Given the description of an element on the screen output the (x, y) to click on. 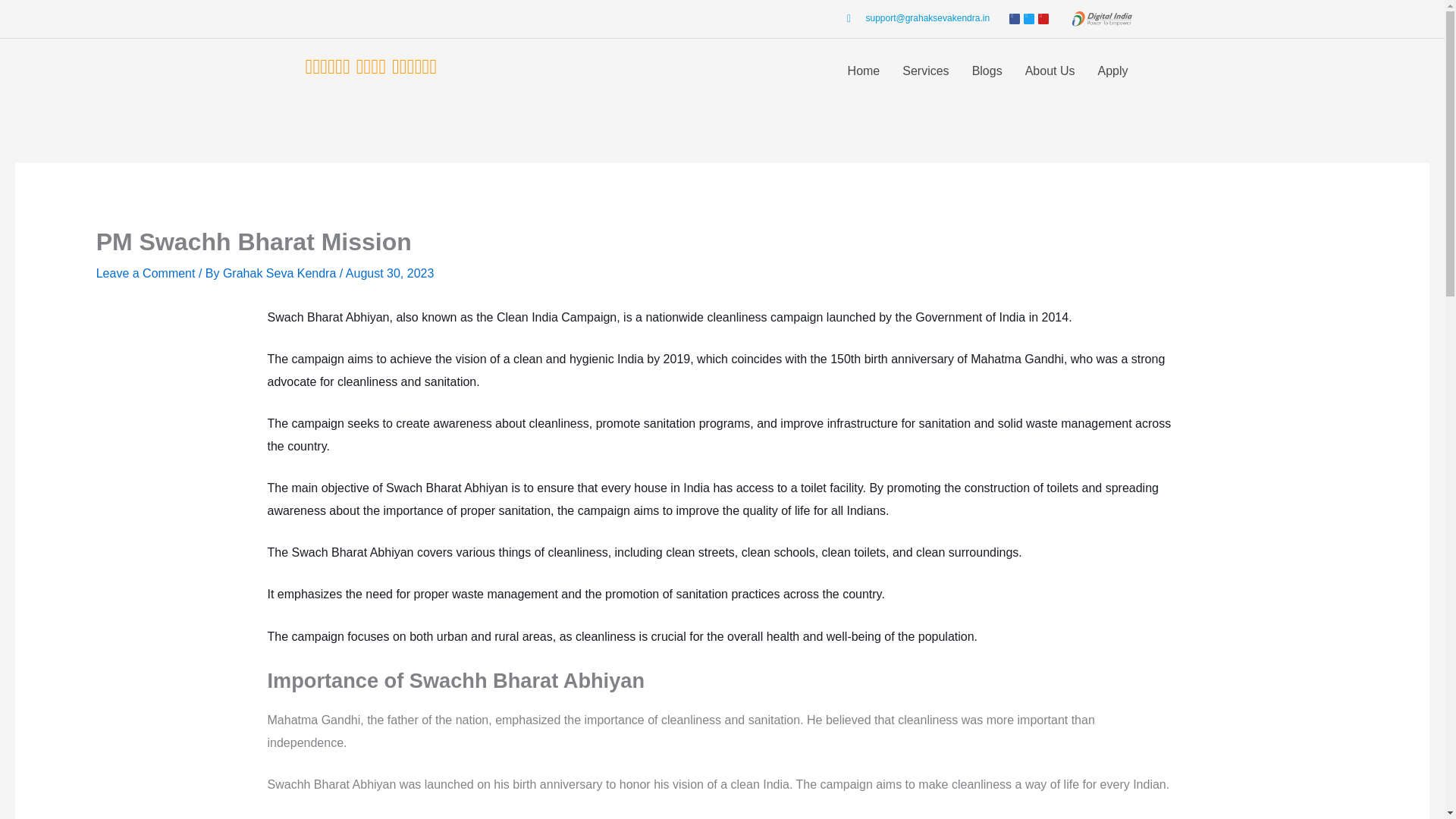
Leave a Comment (145, 273)
Services (925, 71)
About Us (1049, 71)
Apply (1112, 71)
Home (863, 71)
Grahak Seva Kendra (280, 273)
Blogs (986, 71)
View all posts by Grahak Seva Kendra (280, 273)
